Given the description of an element on the screen output the (x, y) to click on. 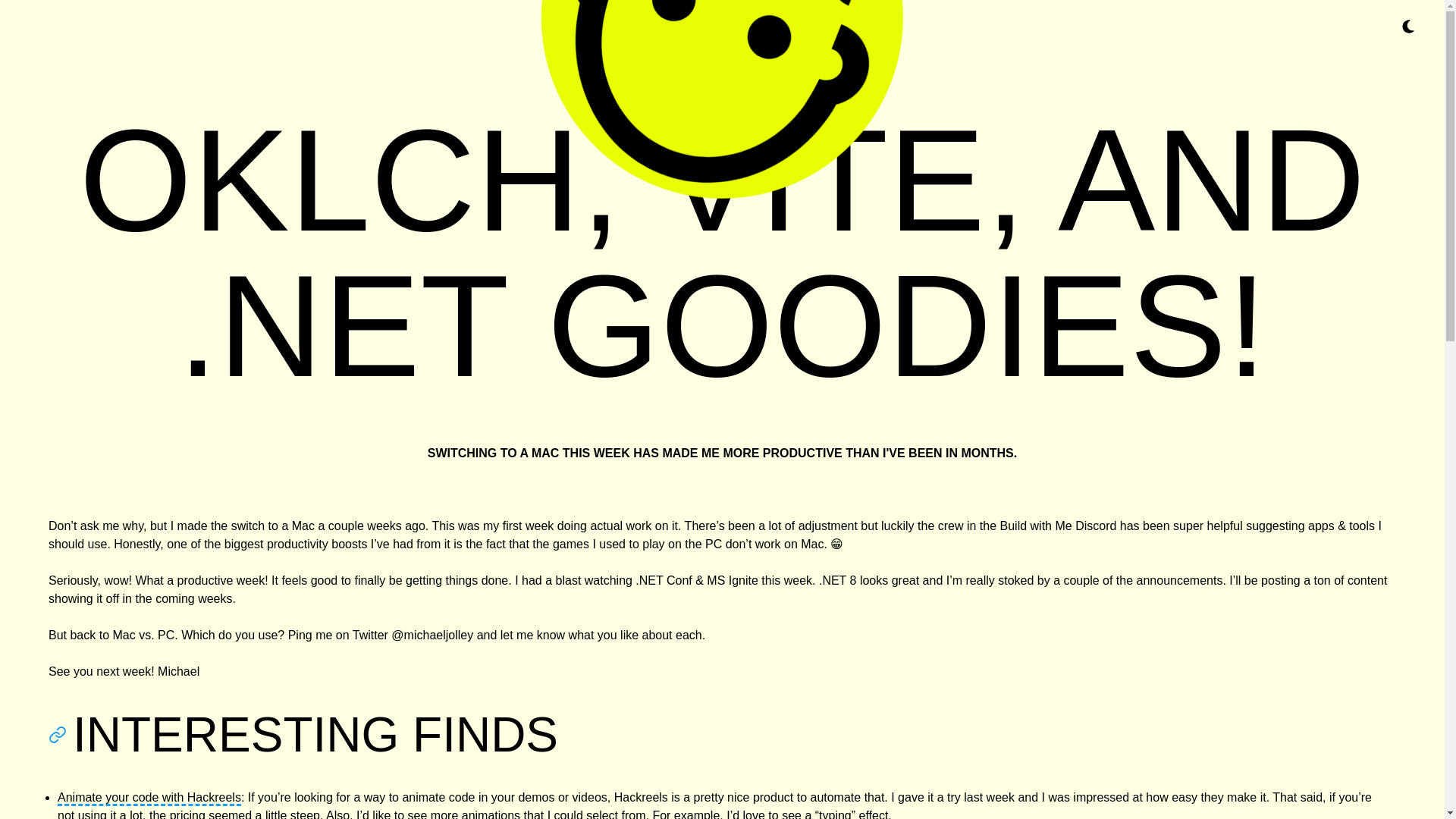
Animate your code with Hackreels (149, 798)
Copy link to clipboard (60, 734)
PERMALINK (60, 734)
